Given the description of an element on the screen output the (x, y) to click on. 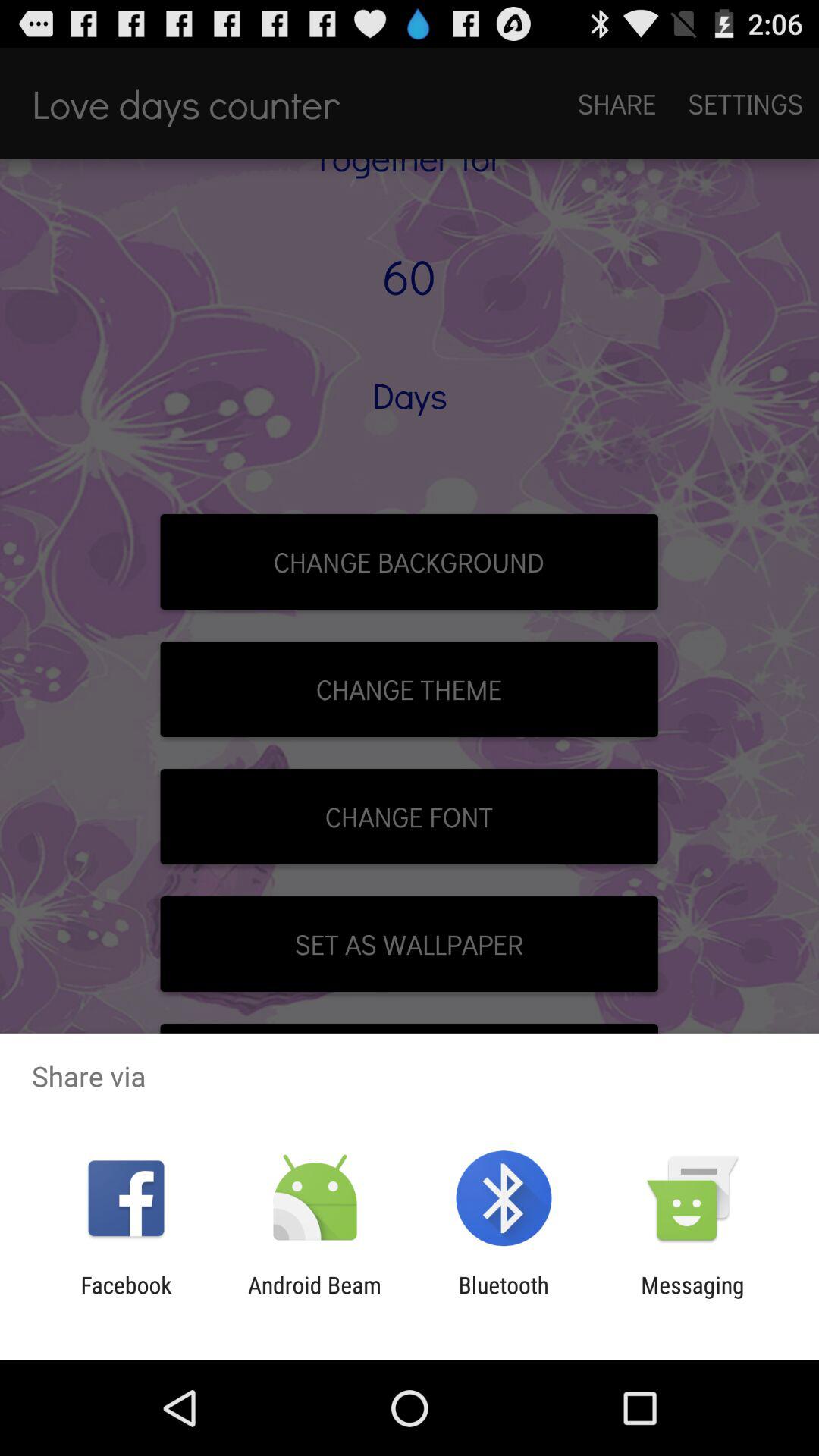
choose the bluetooth (503, 1298)
